Given the description of an element on the screen output the (x, y) to click on. 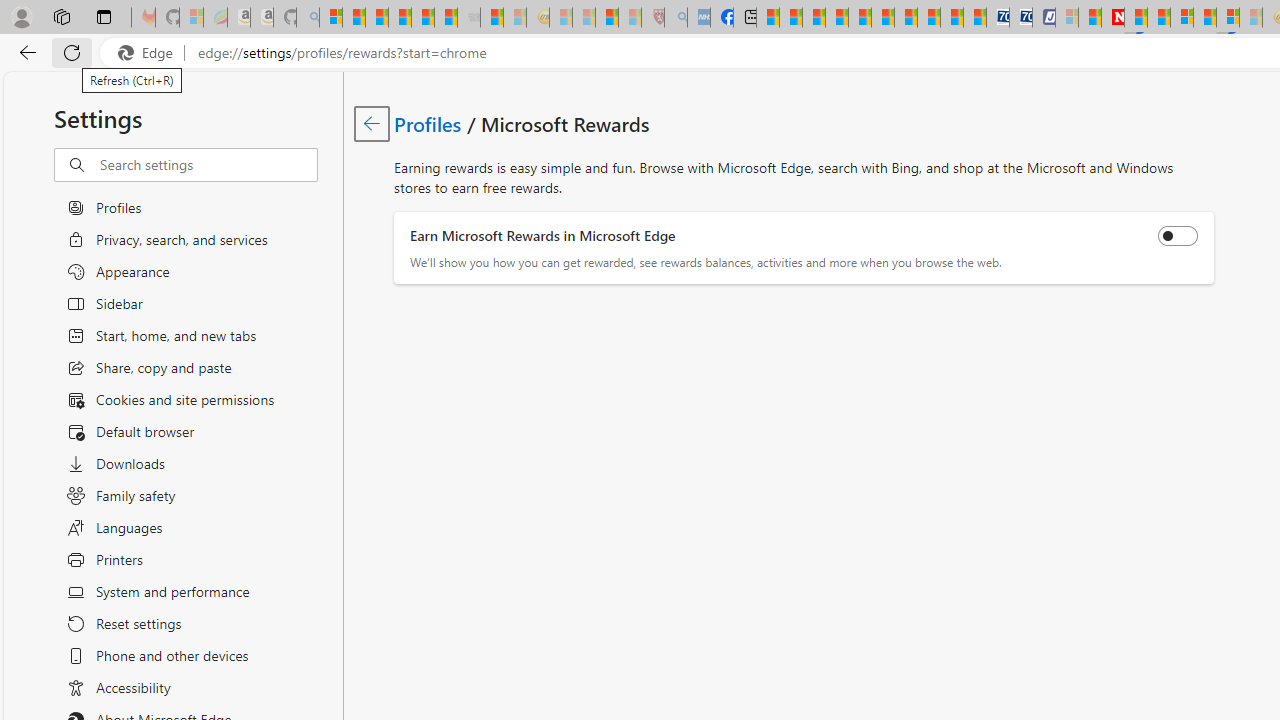
Class: c01176 (371, 123)
